Given the description of an element on the screen output the (x, y) to click on. 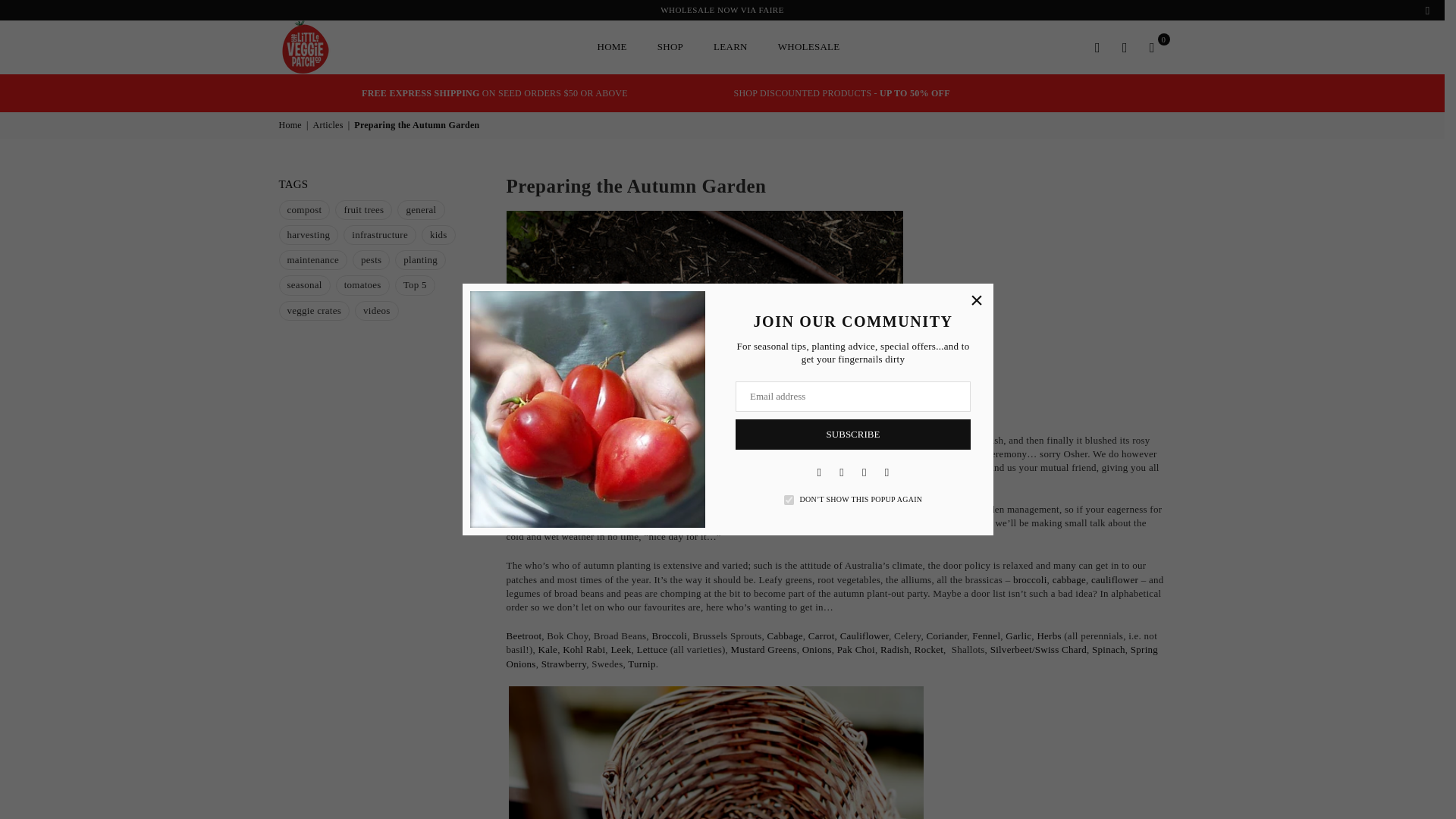
Facebook (818, 472)
Cabbage Seeds (784, 635)
Settings (1125, 46)
The Little Veggie Patch Co on Vimeo (887, 472)
Vimeo (887, 472)
THE LITTLE VEGGIE PATCH CO (343, 46)
The Little Veggie Patch Co on Facebook (818, 472)
Back to the home page (291, 124)
YouTube (864, 472)
SHOP (670, 46)
Cabbage Seeds (1069, 580)
Instagram (841, 472)
Search (1098, 46)
The Little Veggie Patch Co on Instagram (841, 472)
SUBSCRIBE (853, 434)
